Given the description of an element on the screen output the (x, y) to click on. 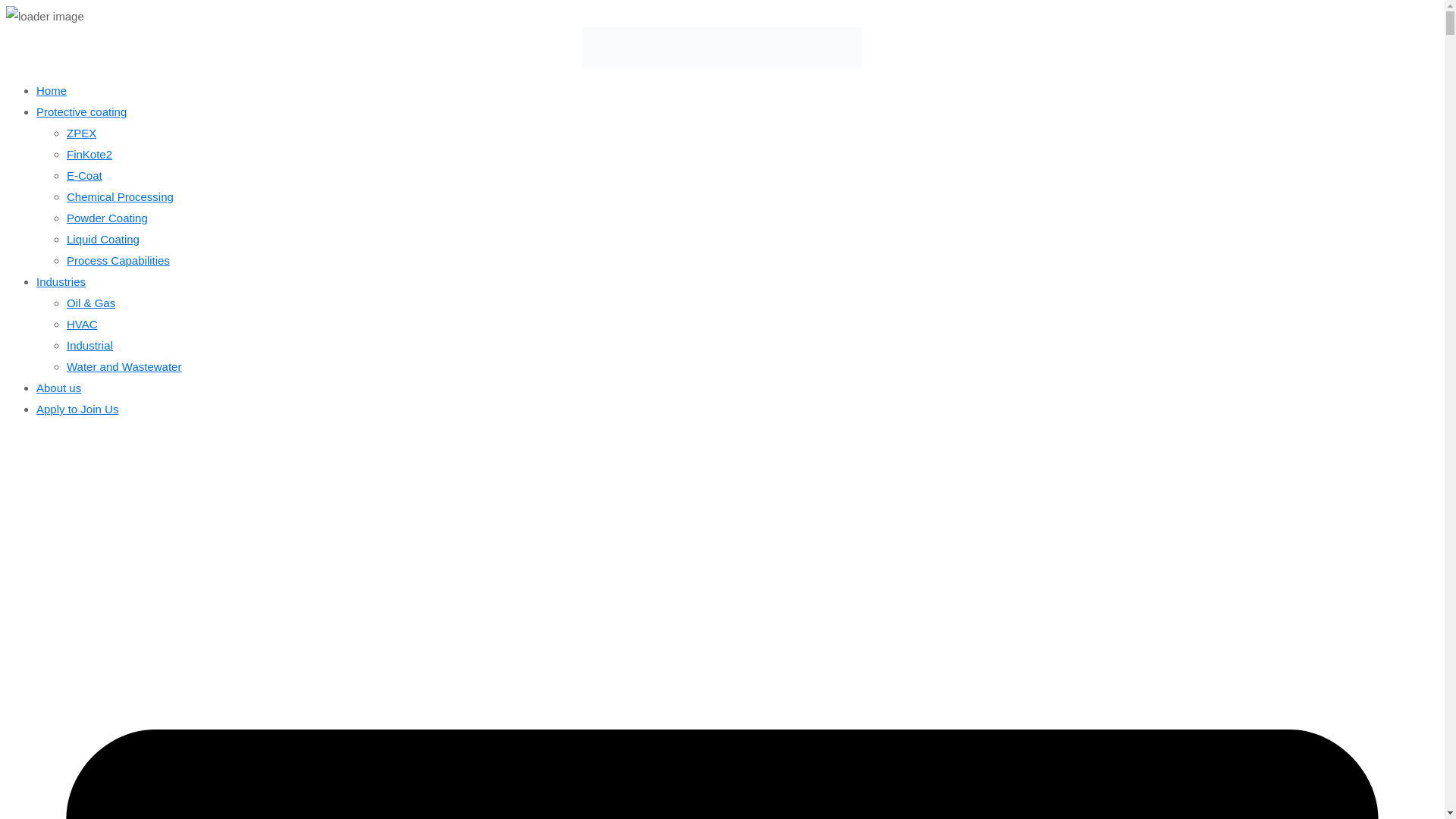
Apply to Join Us (76, 408)
HVAC (81, 323)
Liquid Coating (102, 238)
Industrial (89, 345)
Chemical Processing (119, 196)
ZPEX (81, 132)
Powder Coating (107, 217)
Water and Wastewater (123, 366)
About us (58, 387)
Process Capabilities (118, 259)
